Given the description of an element on the screen output the (x, y) to click on. 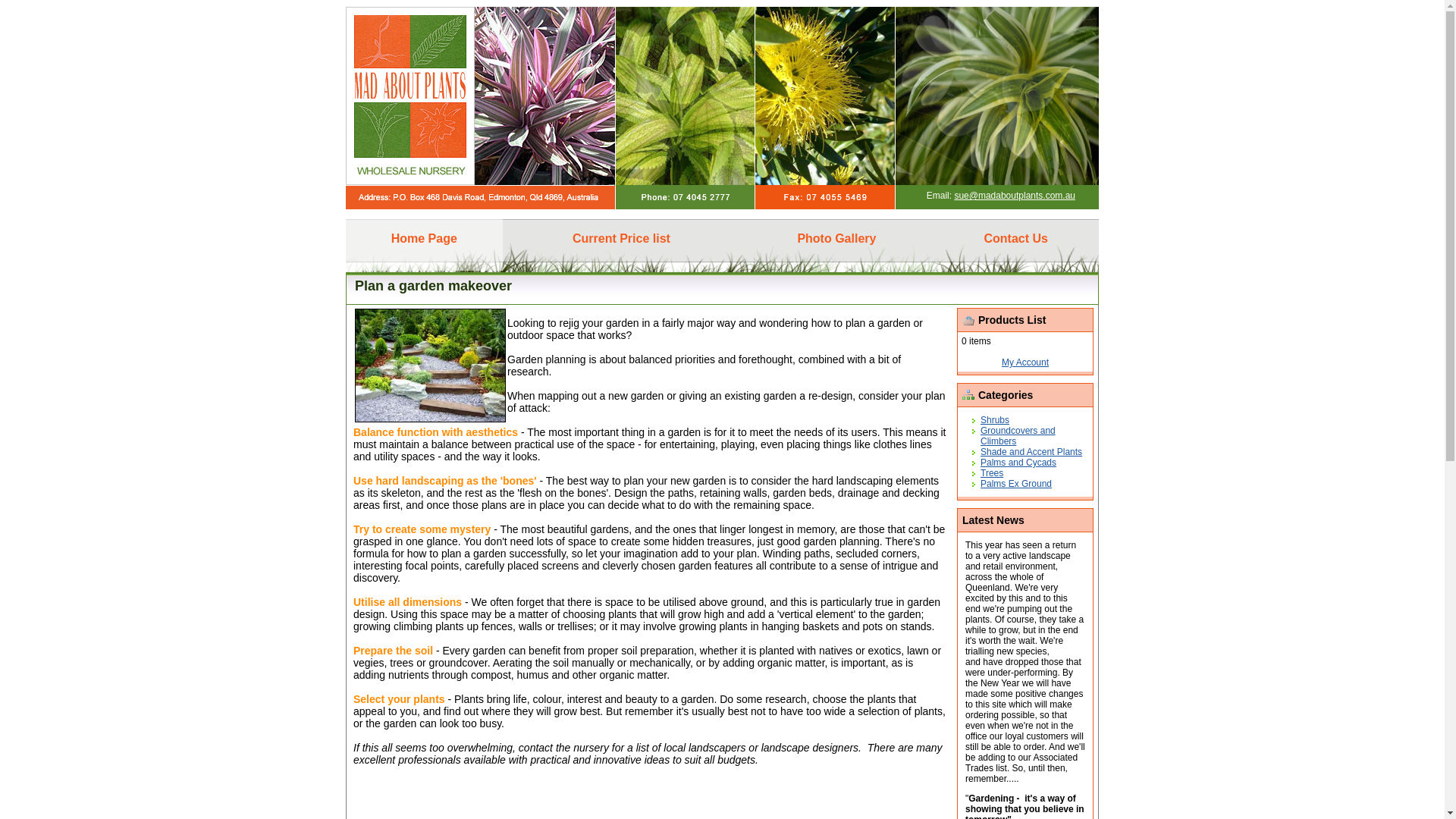
Shrubs Element type: text (994, 419)
Current Price list Element type: text (621, 240)
Shade and Accent Plants Element type: text (1031, 451)
Trees Element type: text (991, 472)
Home Page Element type: text (423, 240)
sue@madaboutplants.com.au Element type: text (1014, 195)
Groundcovers and Climbers Element type: text (1017, 435)
Palms and Cycads Element type: text (1018, 462)
Palms Ex Ground Element type: text (1015, 483)
Contact Us Element type: text (1015, 240)
Photo Gallery Element type: text (836, 240)
My Account Element type: text (1024, 362)
